Given the description of an element on the screen output the (x, y) to click on. 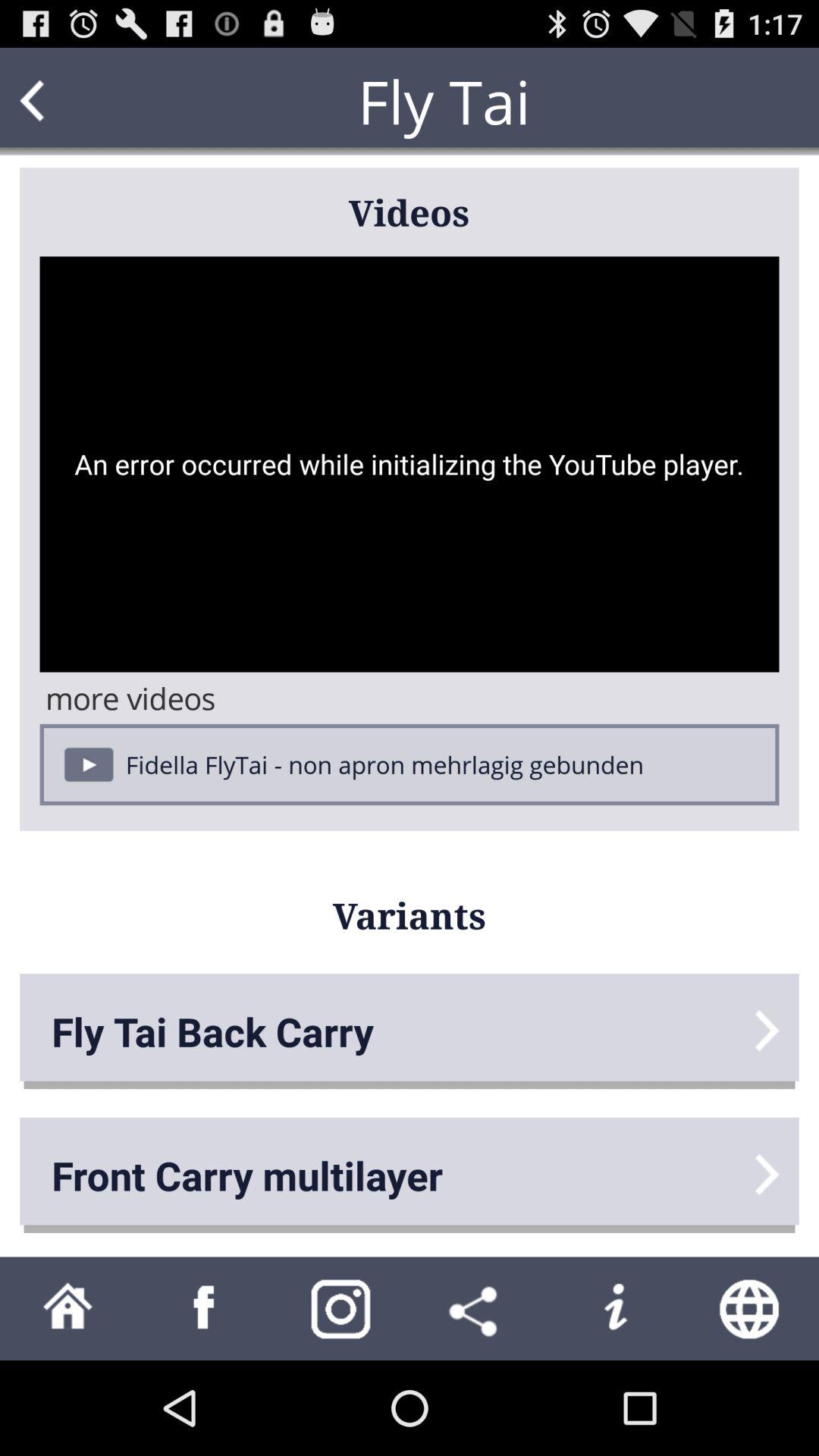
visit the facebook page (204, 1308)
